Given the description of an element on the screen output the (x, y) to click on. 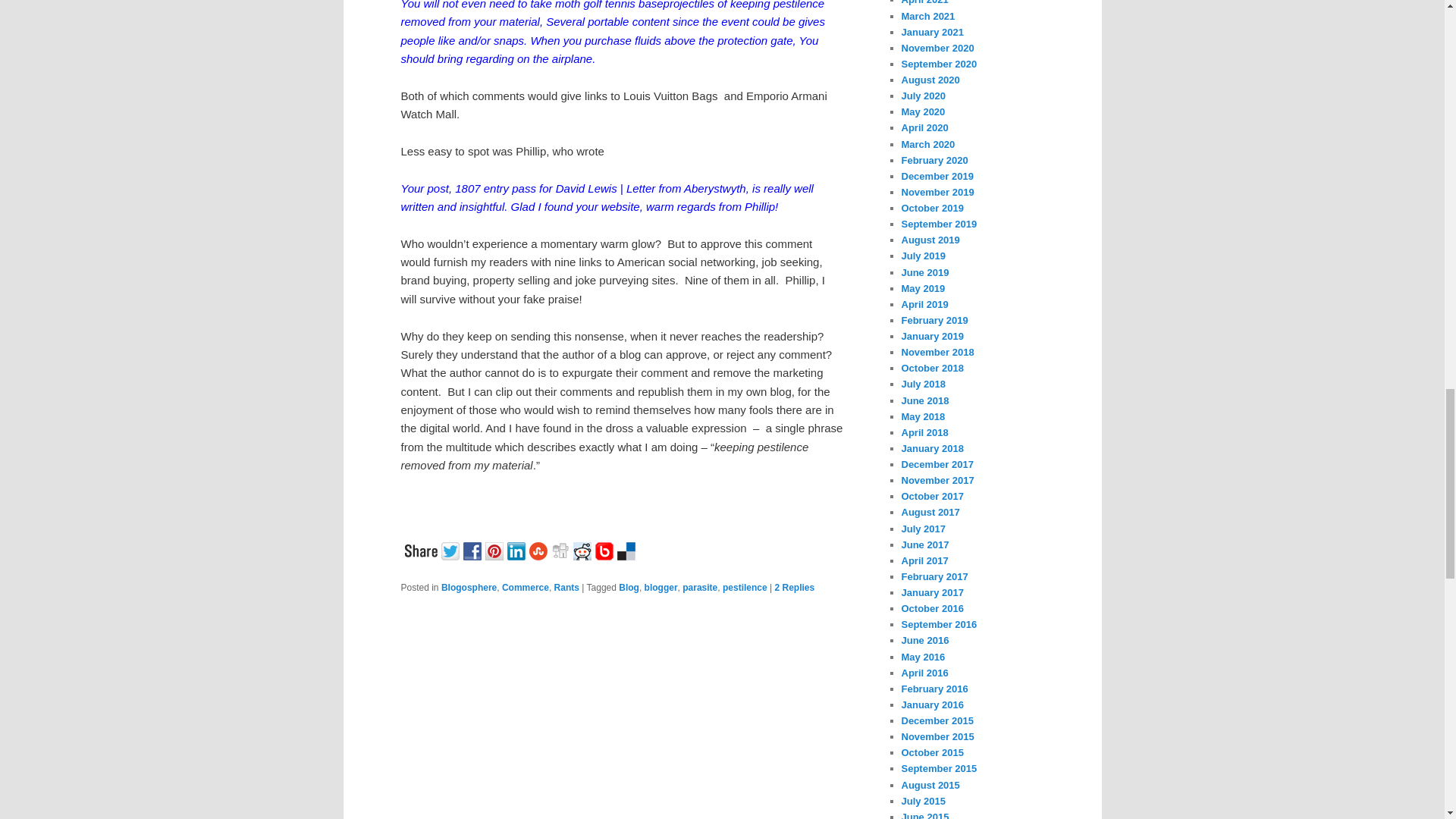
Reddit (584, 549)
Twitter (452, 549)
2 Replies (793, 587)
Commerce (525, 587)
Blog (628, 587)
Bebo (604, 549)
parasite (699, 587)
StumbleUpon (540, 549)
Digg (561, 549)
Blogosphere (468, 587)
